Given the description of an element on the screen output the (x, y) to click on. 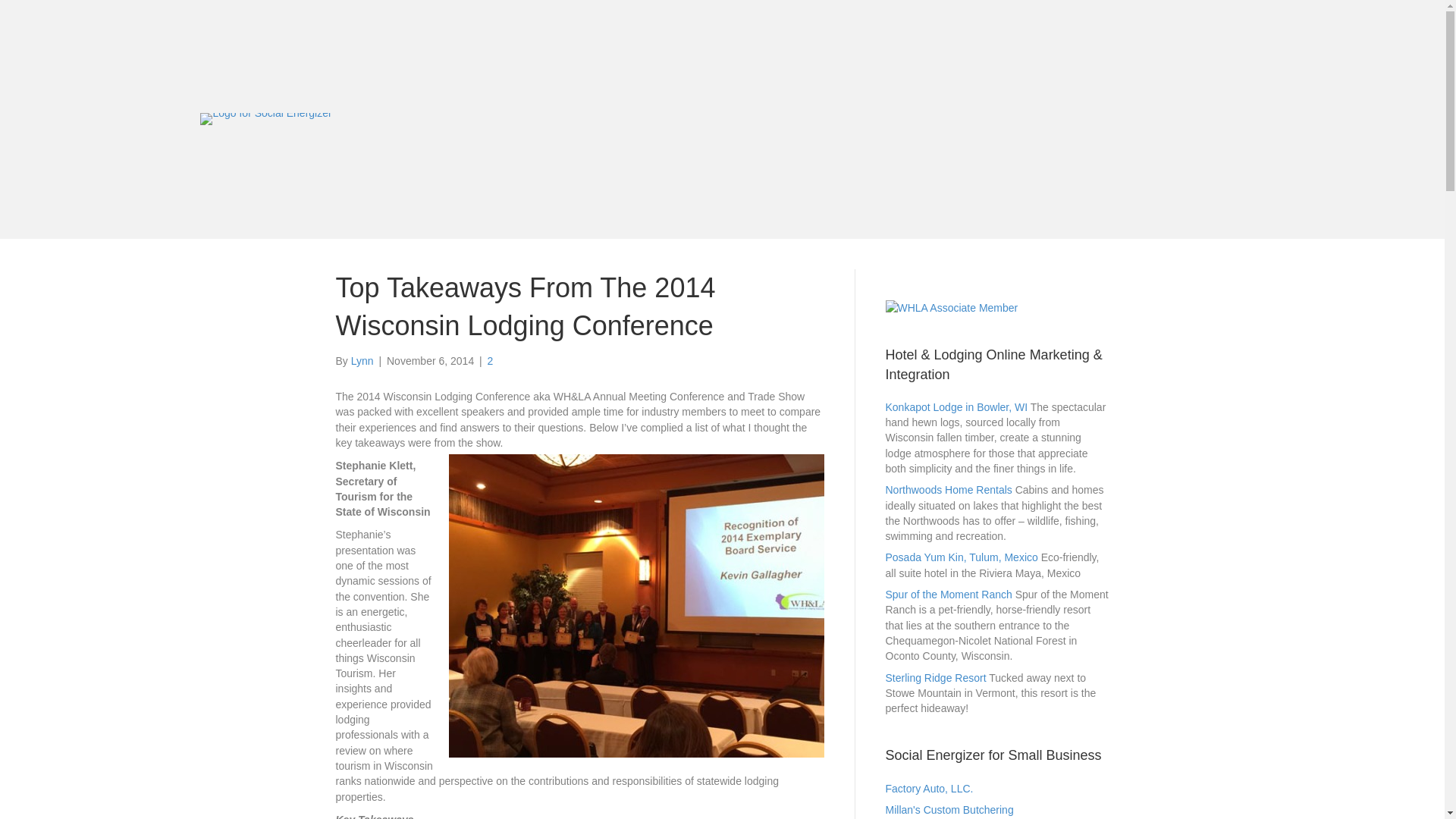
2nd page of Google Search, in no time! (929, 788)
Lynn (362, 360)
2 (490, 360)
Eco-friendly, all suite hotel in the Riviera Maya, Mexico (961, 557)
Sterling Ridge Resort (936, 677)
Konkapot Lodge in Bowler, WI (956, 407)
Posada Yum Kin, Tulum, Mexico (961, 557)
SE-logo-type-web (265, 118)
Factory Auto, LLC. (929, 788)
Spur of the Moment Ranch (948, 594)
Millan's Custom Butchering (949, 809)
Northwoods Home Rentals (948, 490)
